Given the description of an element on the screen output the (x, y) to click on. 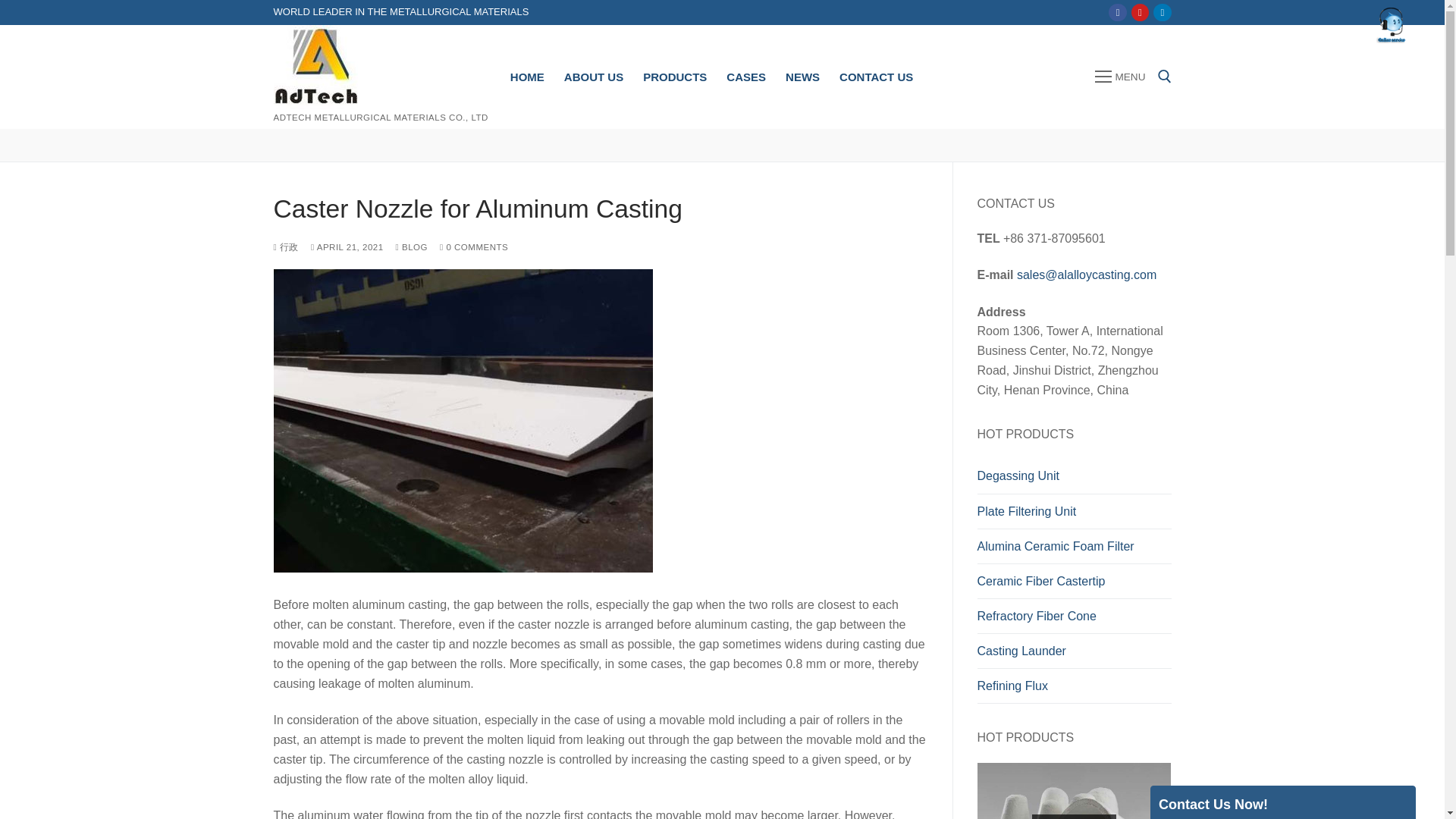
PRODUCTS (674, 76)
Youtube (1139, 12)
HOME (527, 76)
Linkedin (1162, 12)
Facebook (1117, 12)
ABOUT US (593, 76)
